Given the description of an element on the screen output the (x, y) to click on. 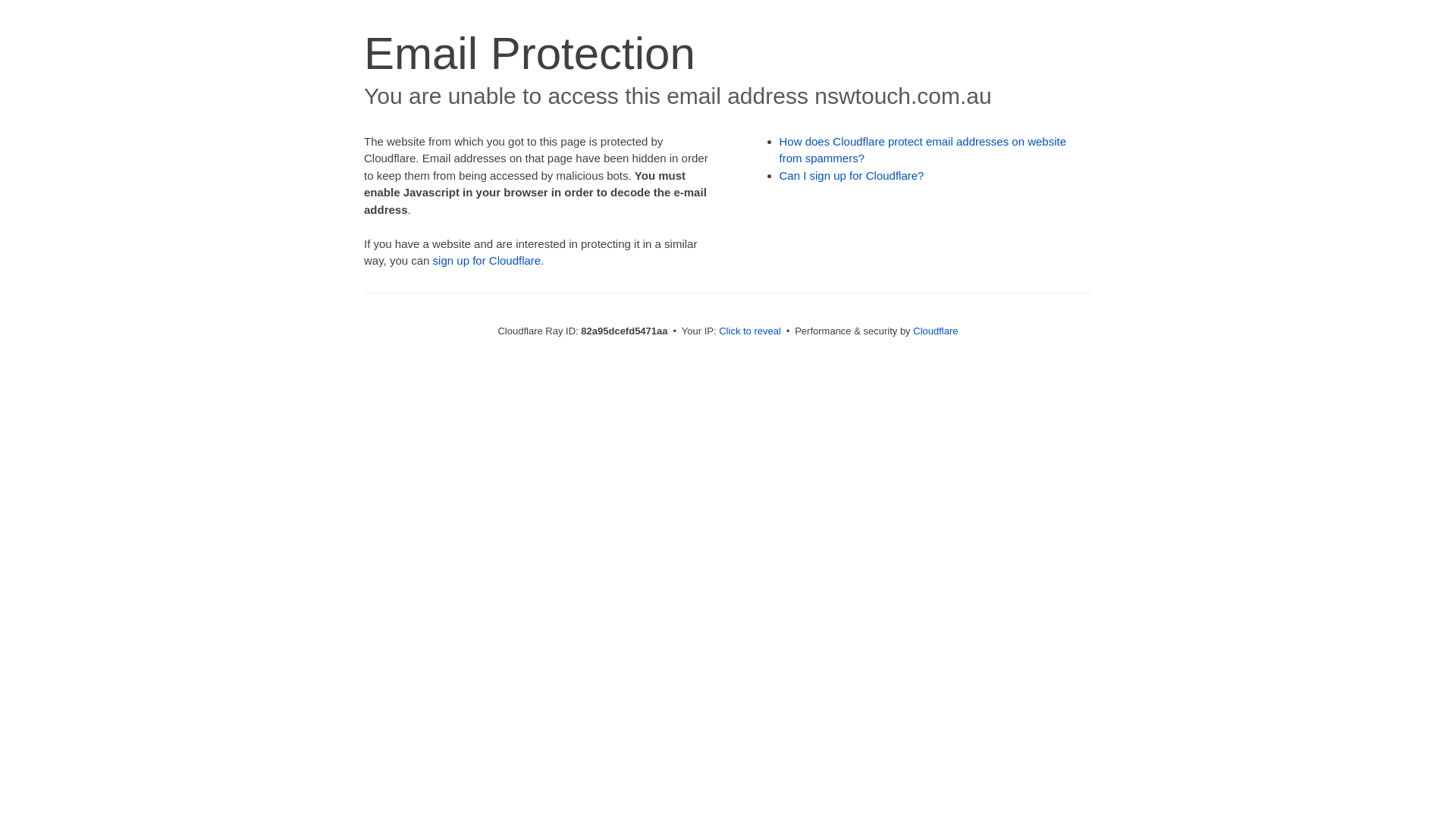
Cloudflare Element type: text (935, 330)
Can I sign up for Cloudflare? Element type: text (851, 175)
sign up for Cloudflare Element type: text (487, 260)
Click to reveal Element type: text (749, 330)
